Given the description of an element on the screen output the (x, y) to click on. 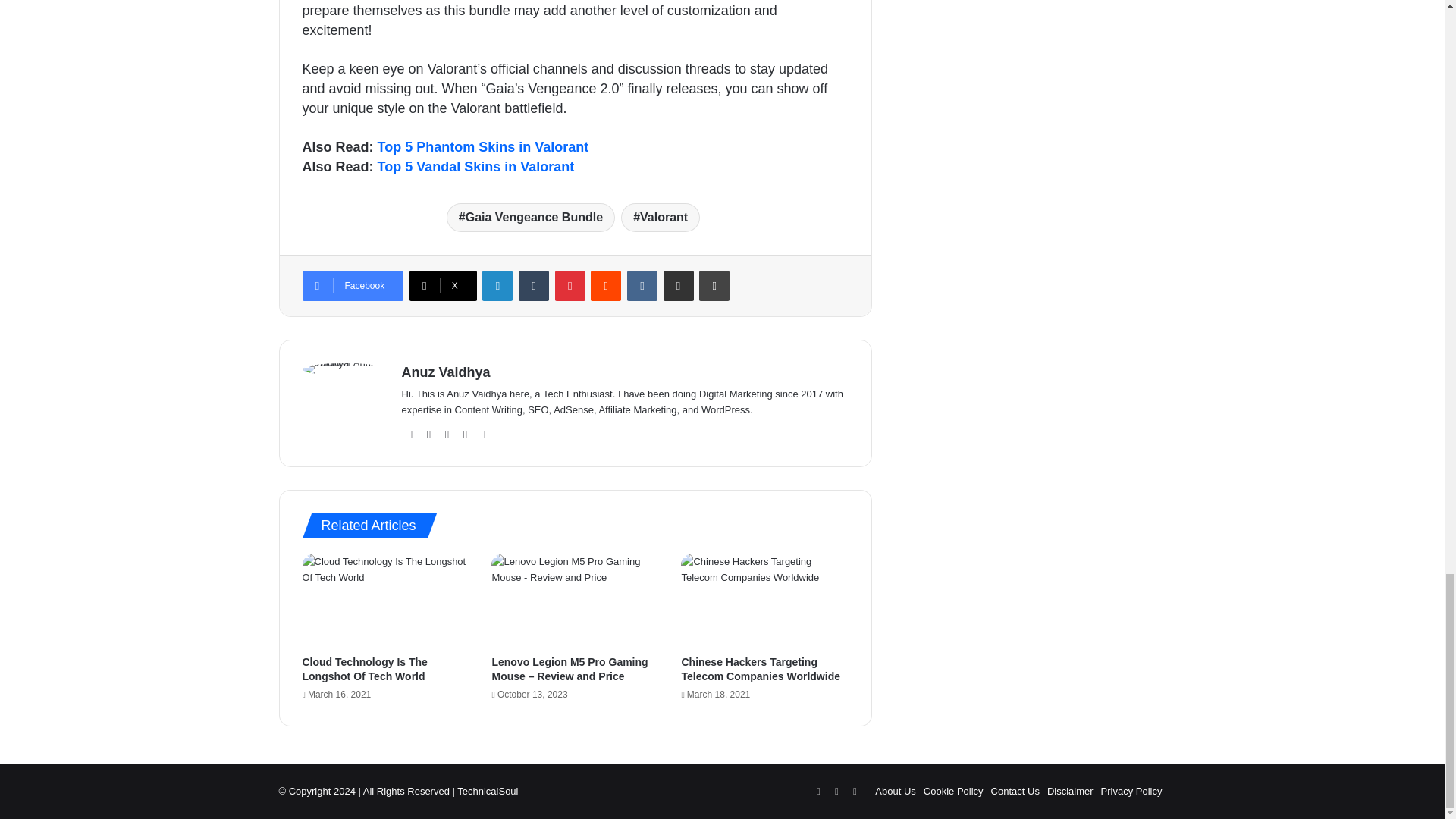
Valorant (660, 217)
Gaia Vengeance Bundle (530, 217)
Top 5 Phantom Skins in Valorant (483, 146)
Top 5 Vandal Skins in Valorant (476, 166)
